Given the description of an element on the screen output the (x, y) to click on. 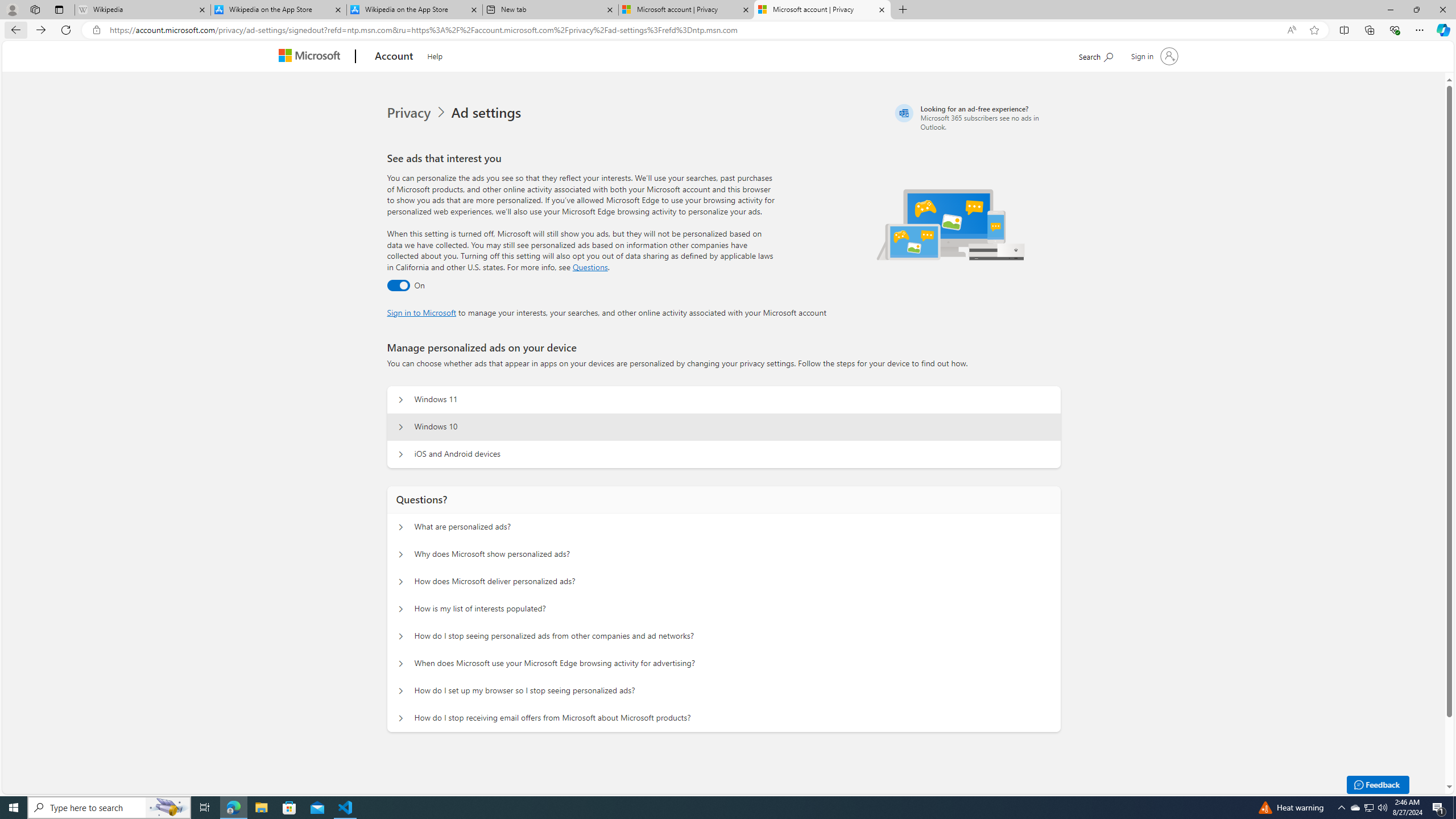
Privacy (410, 112)
Search Microsoft.com (1095, 54)
Address and search bar (693, 29)
Workspaces (34, 9)
Copilot (Ctrl+Shift+.) (1442, 29)
Browser essentials (1394, 29)
Manage personalized ads on your device Windows 11 (401, 400)
View site information (96, 29)
Back (13, 29)
